Given the description of an element on the screen output the (x, y) to click on. 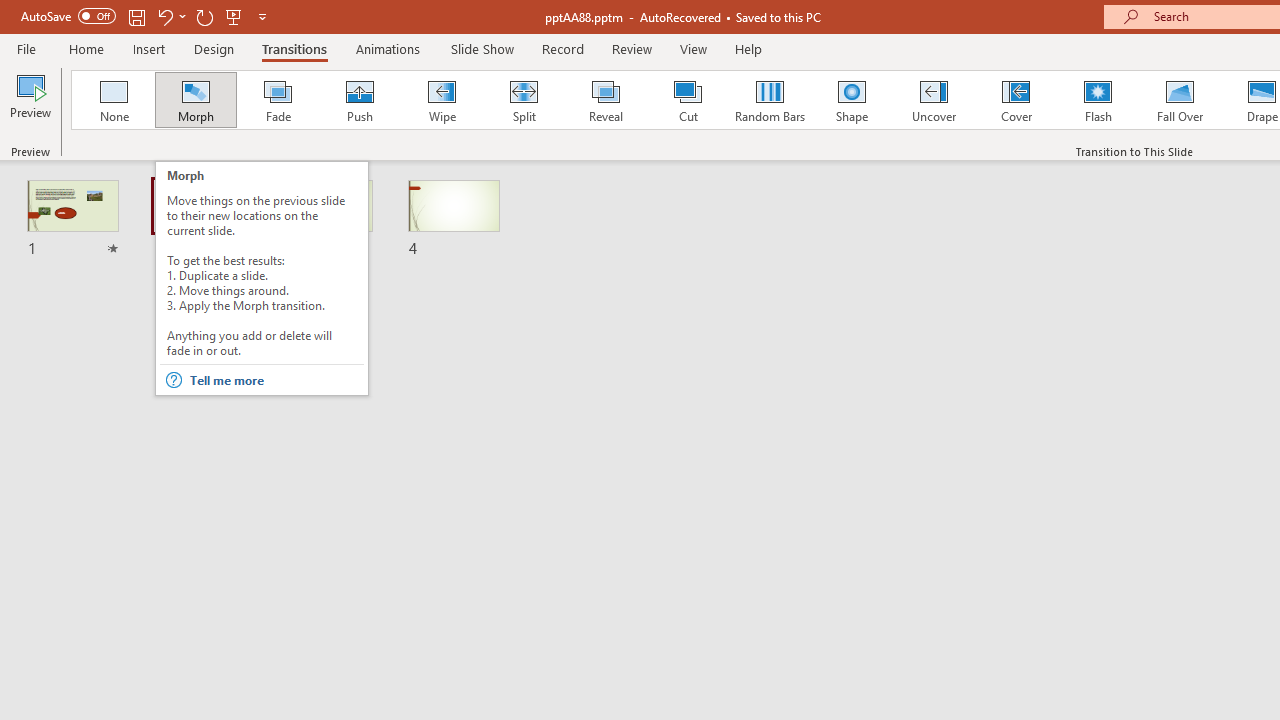
Morph (195, 100)
Flash (1098, 100)
Push (359, 100)
Tell me more (275, 380)
Uncover (934, 100)
Fall Over (1180, 100)
